Given the description of an element on the screen output the (x, y) to click on. 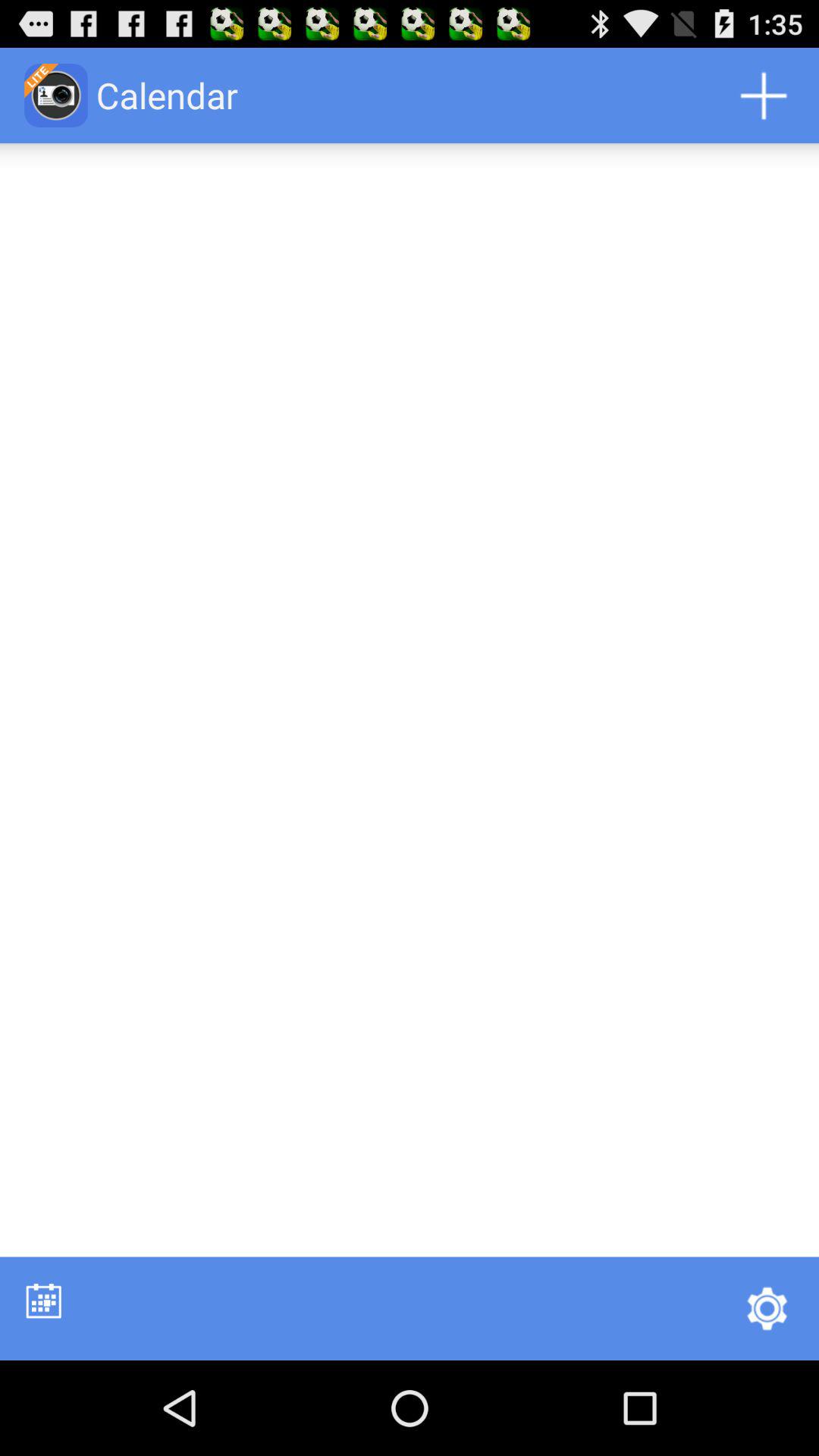
go to settings (767, 1308)
